Given the description of an element on the screen output the (x, y) to click on. 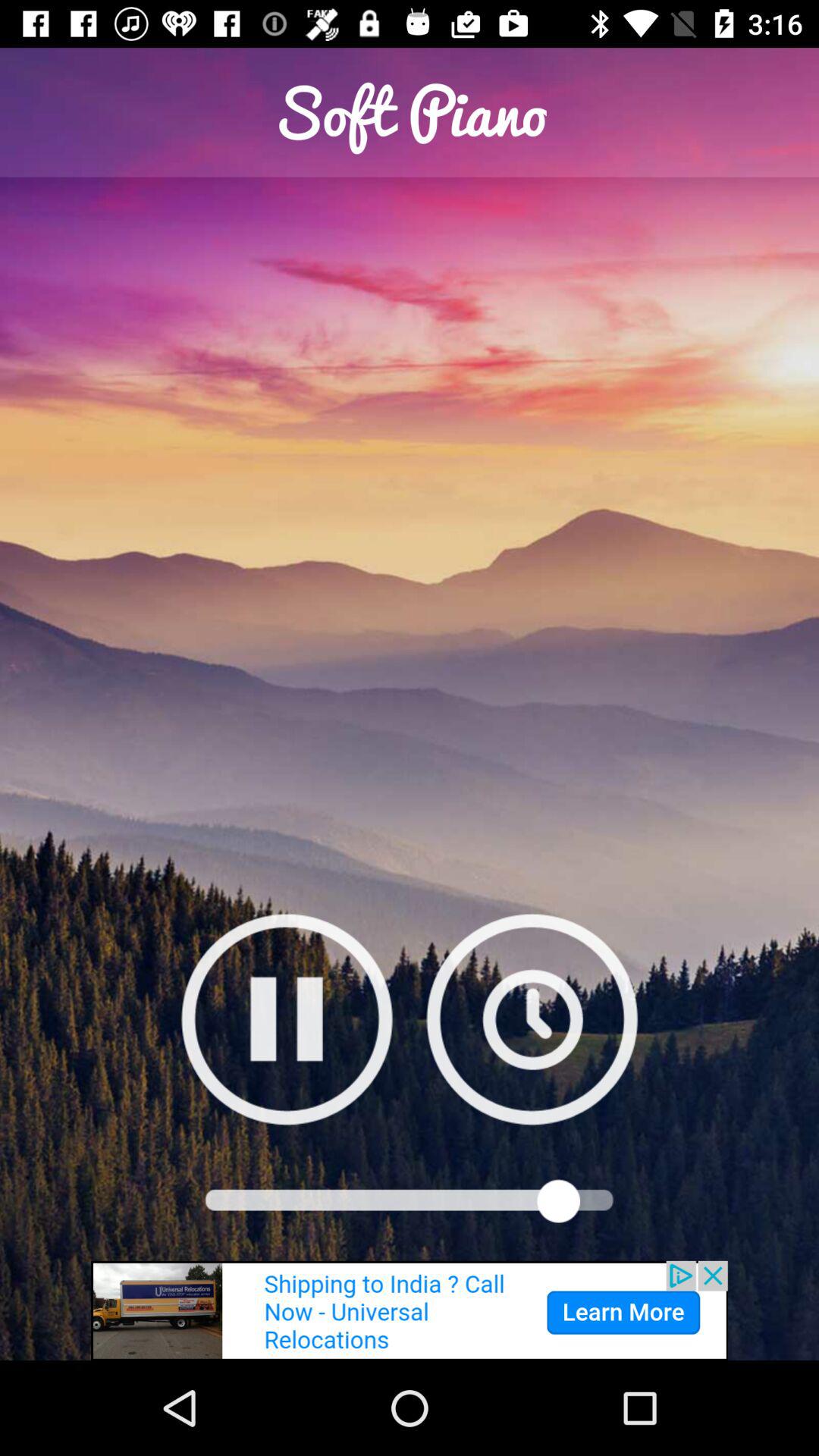
go to play (531, 1018)
